Given the description of an element on the screen output the (x, y) to click on. 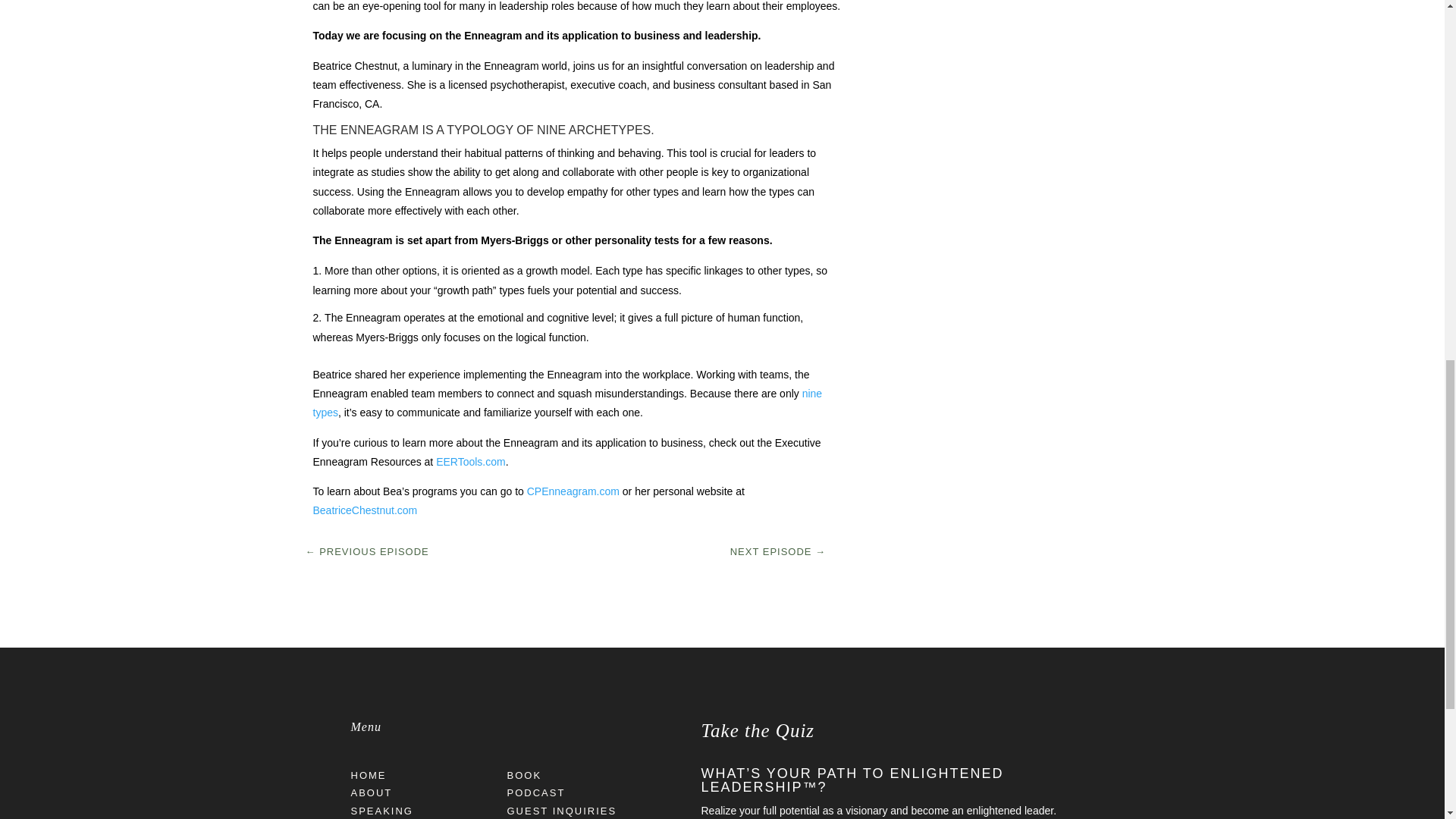
BeatriceChestnut.com (364, 510)
HOME (367, 775)
EERTools.com (470, 461)
nine types (567, 402)
CPEnneagram.com (573, 491)
